Given the description of an element on the screen output the (x, y) to click on. 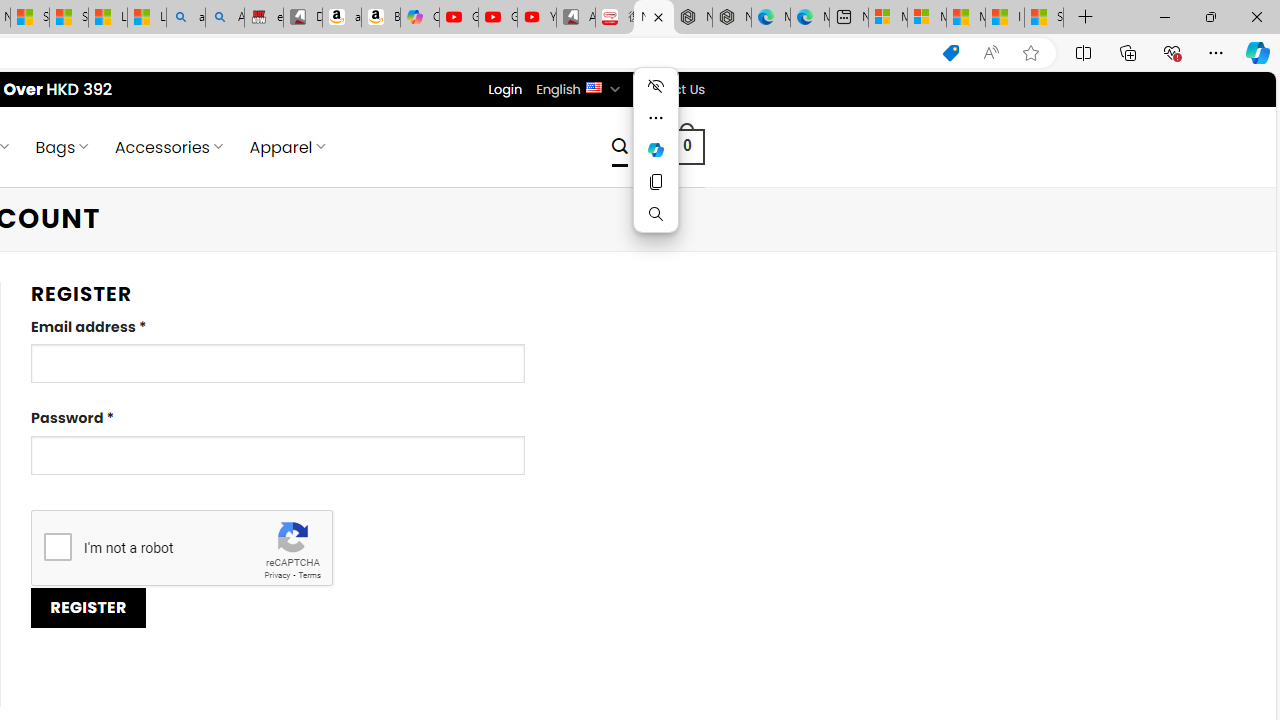
Nordace - My Account (653, 17)
Copilot (419, 17)
Browser essentials (1171, 52)
English (592, 86)
Login (505, 89)
Mini menu on text selection (655, 161)
Add this page to favorites (Ctrl+D) (1030, 53)
Gloom - YouTube (497, 17)
This site has coupons! Shopping in Microsoft Edge (950, 53)
Microsoft Start (966, 17)
All Cubot phones (575, 17)
  0   (687, 146)
